Given the description of an element on the screen output the (x, y) to click on. 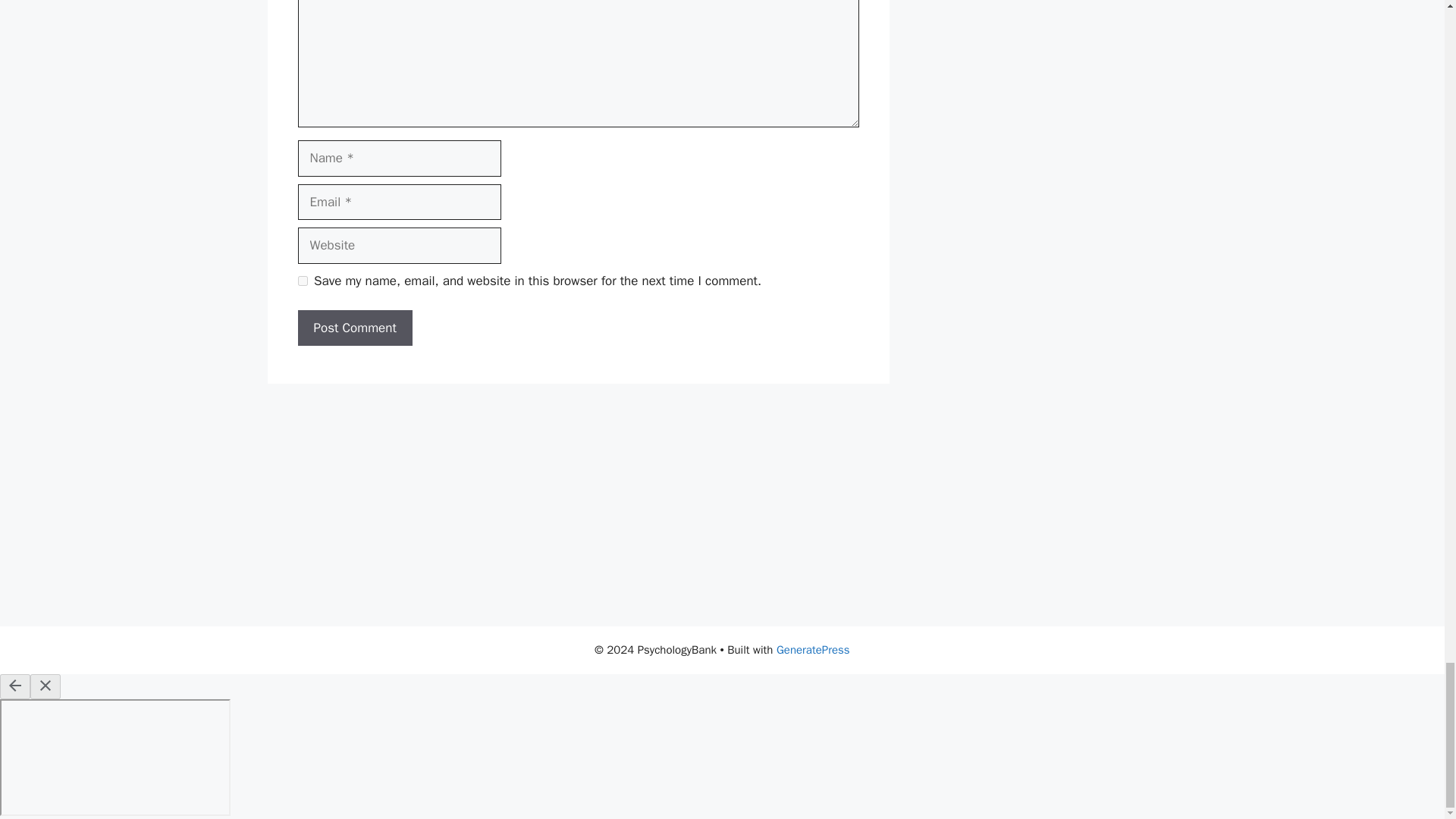
yes (302, 280)
Post Comment (354, 328)
